Given the description of an element on the screen output the (x, y) to click on. 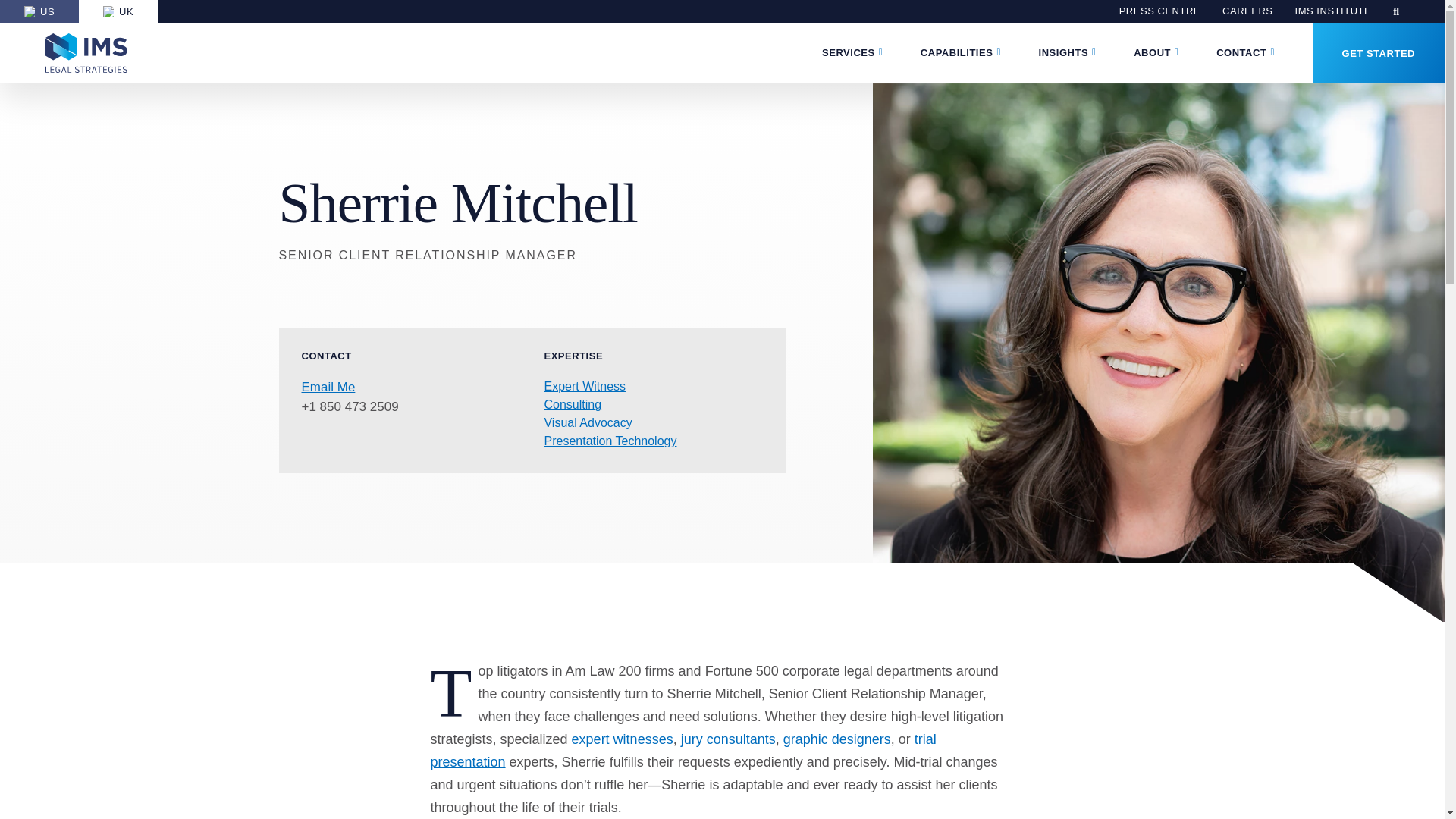
CAPABILITIES (956, 52)
UK (117, 11)
US (39, 11)
PRESS CENTRE (1159, 10)
CAREERS (1247, 10)
Telephone (349, 406)
IMS INSTITUTE (1333, 10)
Email (328, 386)
